Given the description of an element on the screen output the (x, y) to click on. 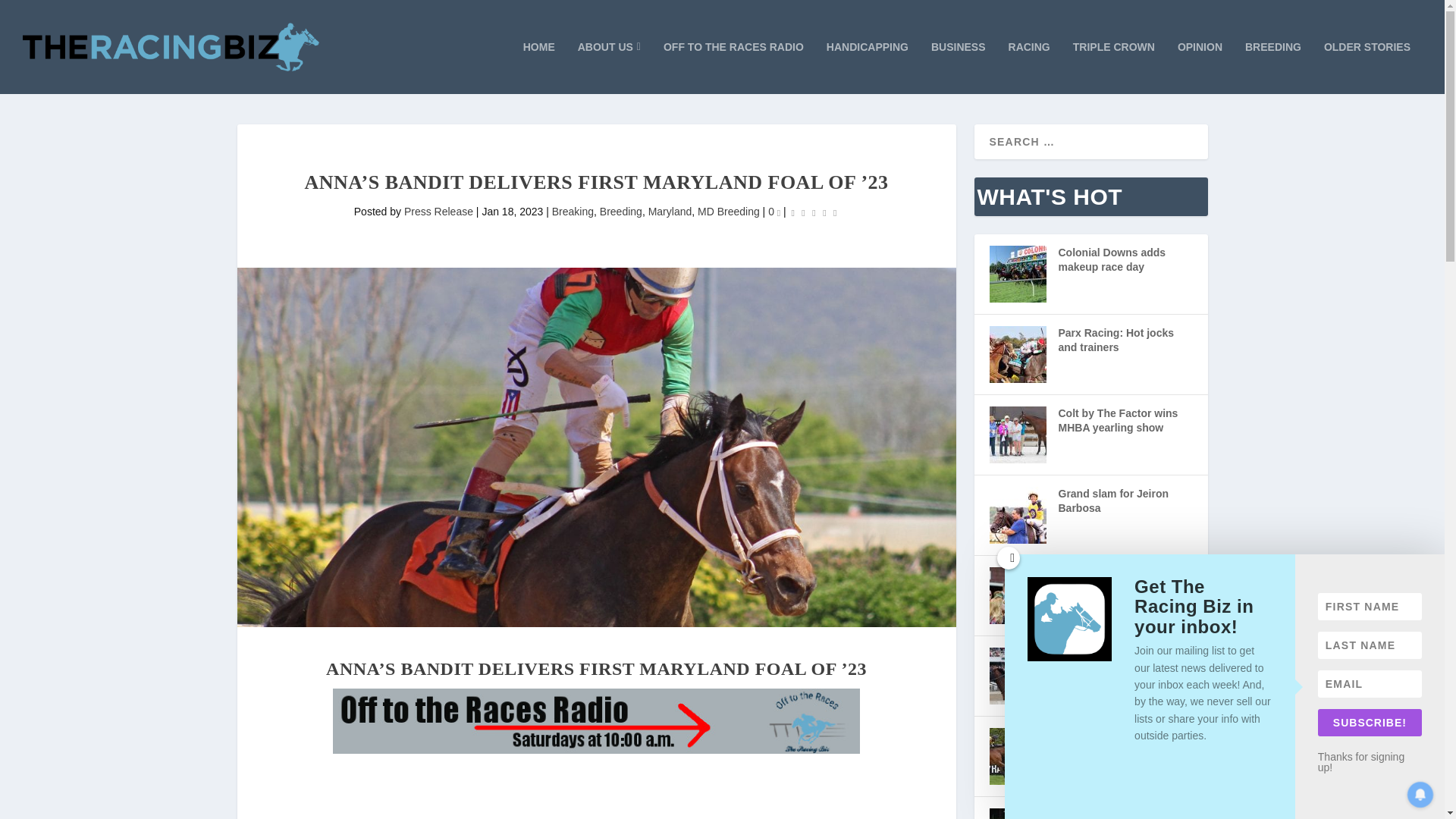
OLDER STORIES (1366, 67)
BUSINESS (958, 67)
ABOUT US (609, 67)
OPINION (1200, 67)
comment count (778, 212)
Press Release (438, 211)
Breaking (572, 211)
HOME (538, 67)
Maryland (670, 211)
Posts by Press Release (438, 211)
HANDICAPPING (867, 67)
Breeding (620, 211)
RACING (1029, 67)
0 (774, 211)
Rating: 0.00 (814, 212)
